Given the description of an element on the screen output the (x, y) to click on. 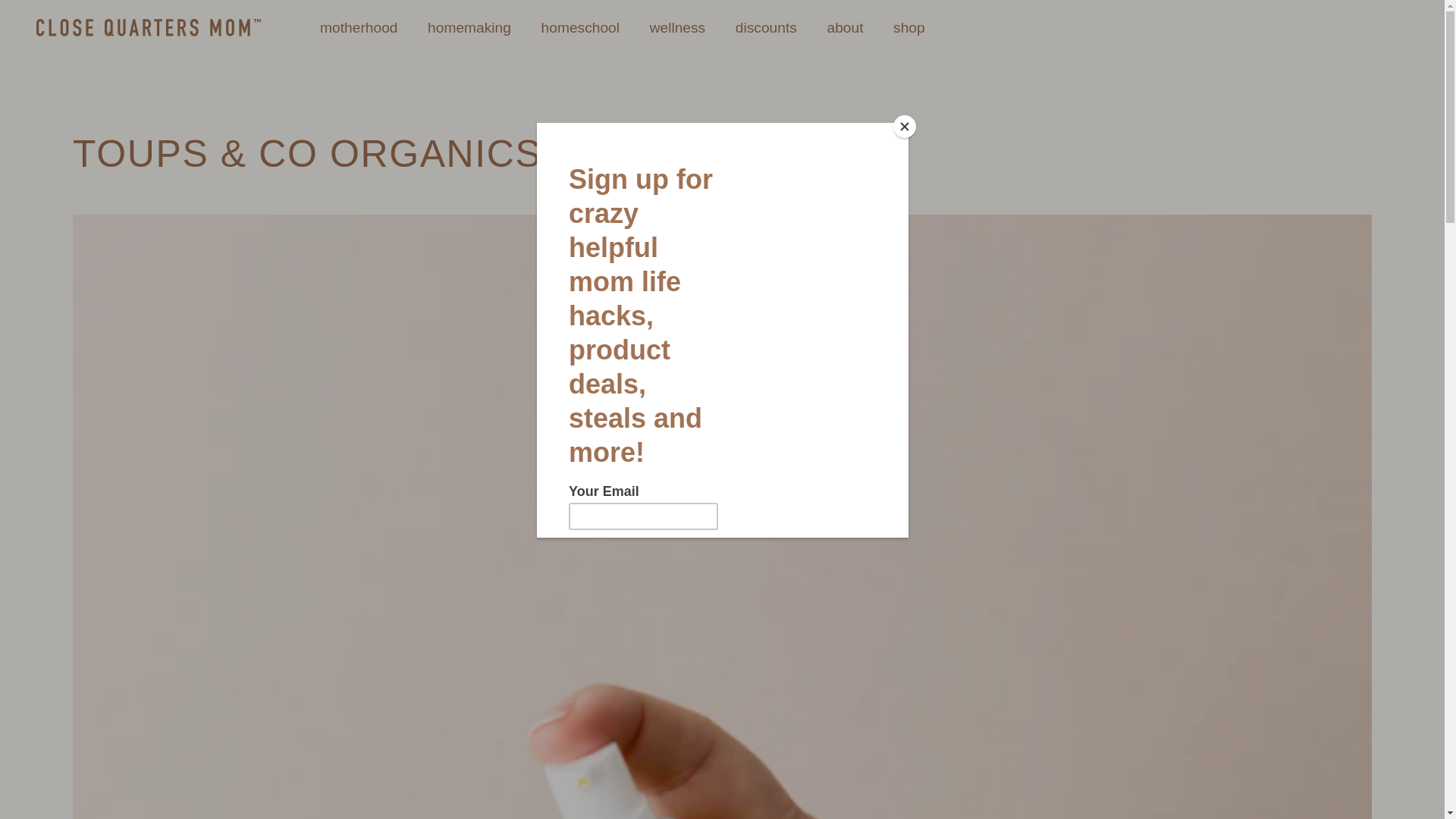
discounts (765, 27)
homeschool (580, 27)
wellness (677, 27)
about (845, 27)
homemaking (469, 27)
motherhood (358, 27)
shop (908, 27)
